Given the description of an element on the screen output the (x, y) to click on. 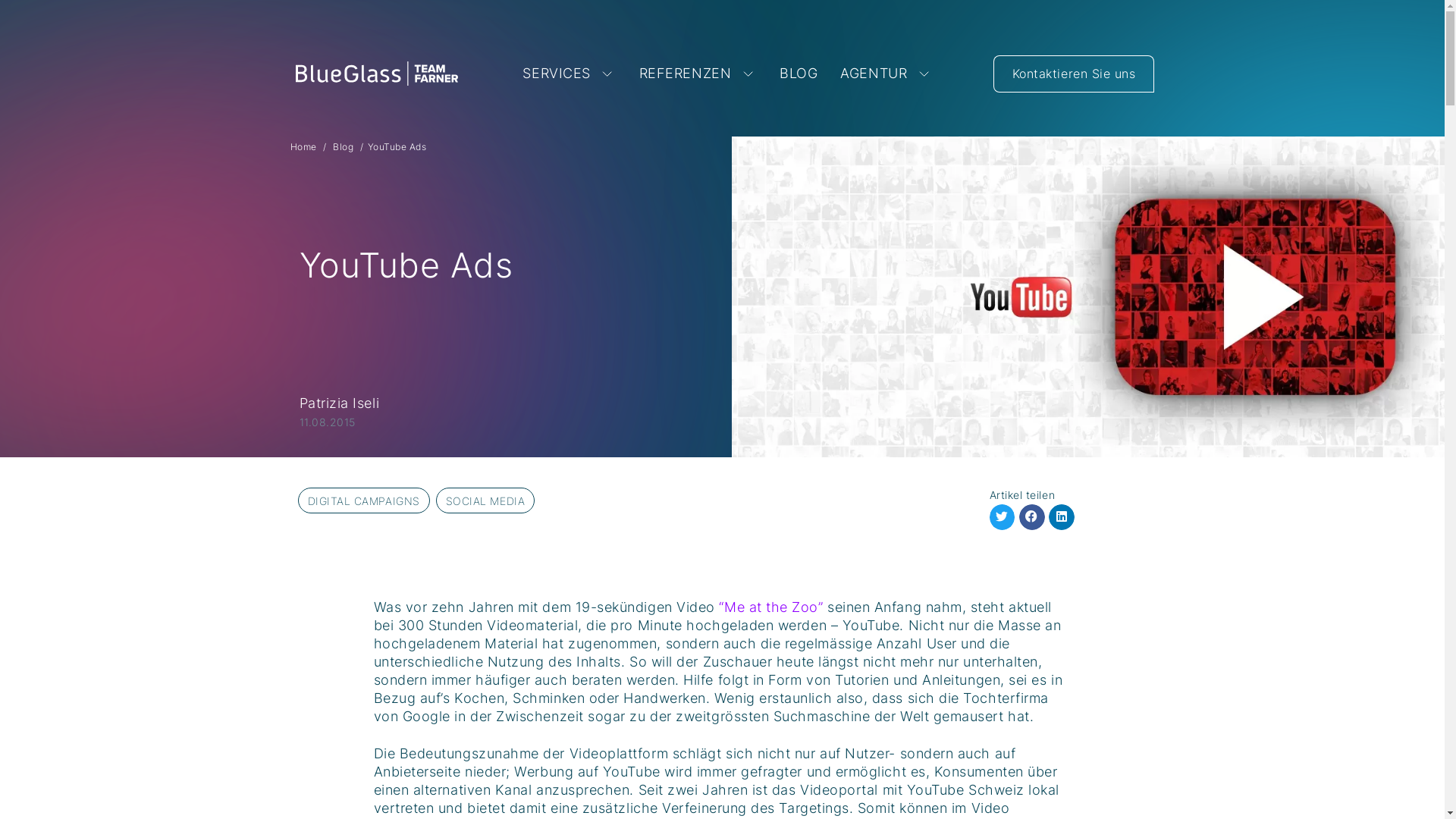
Blog Element type: text (342, 146)
AGENTUR Element type: text (886, 73)
BLOG Element type: text (798, 73)
REFERENZEN Element type: text (697, 73)
Home Element type: text (302, 146)
Kontaktieren Sie uns Element type: text (1073, 72)
SERVICES Element type: text (568, 73)
